Given the description of an element on the screen output the (x, y) to click on. 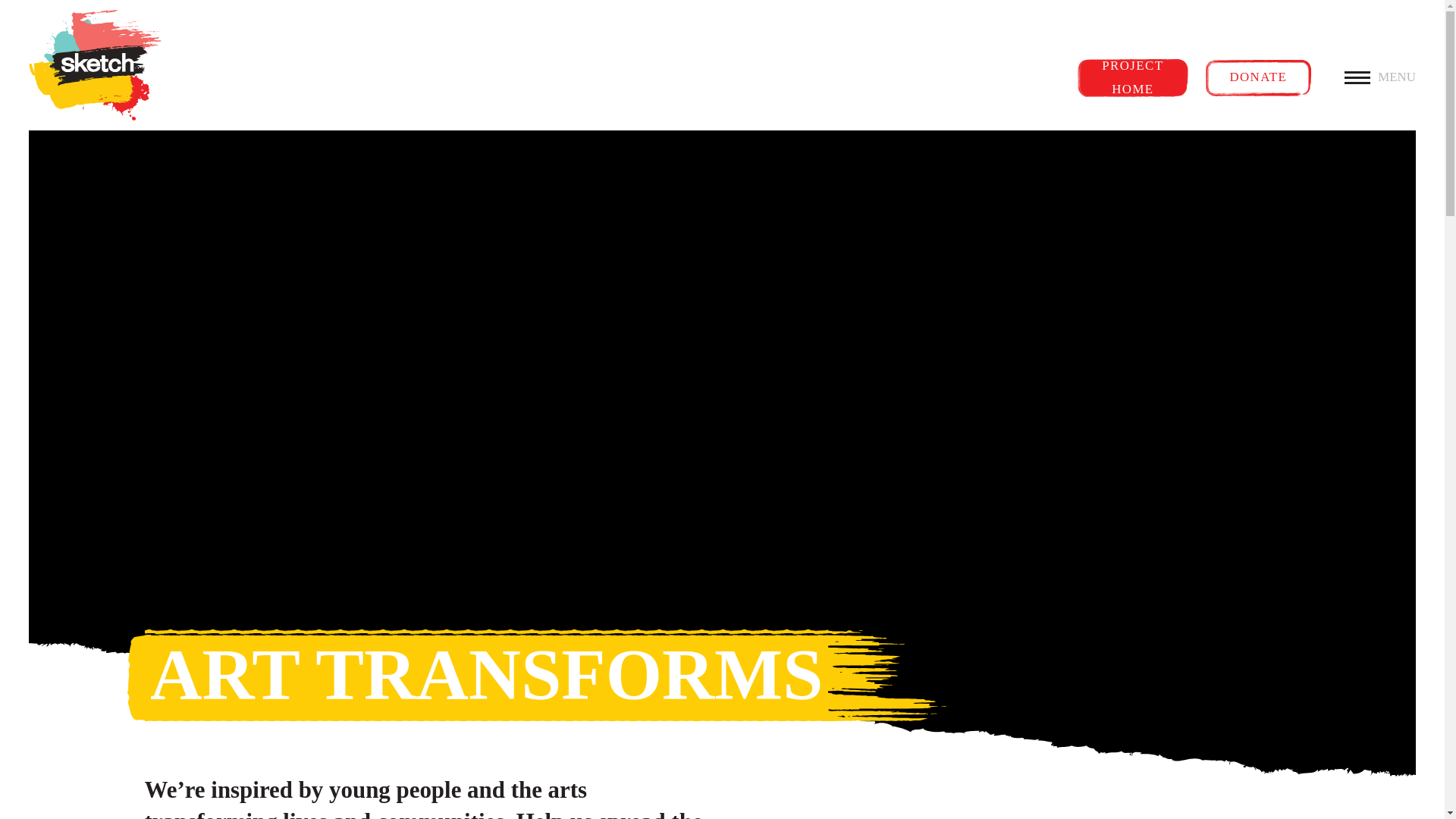
PROJECT HOME (1132, 77)
MENU (1379, 77)
DONATE (1257, 77)
